Given the description of an element on the screen output the (x, y) to click on. 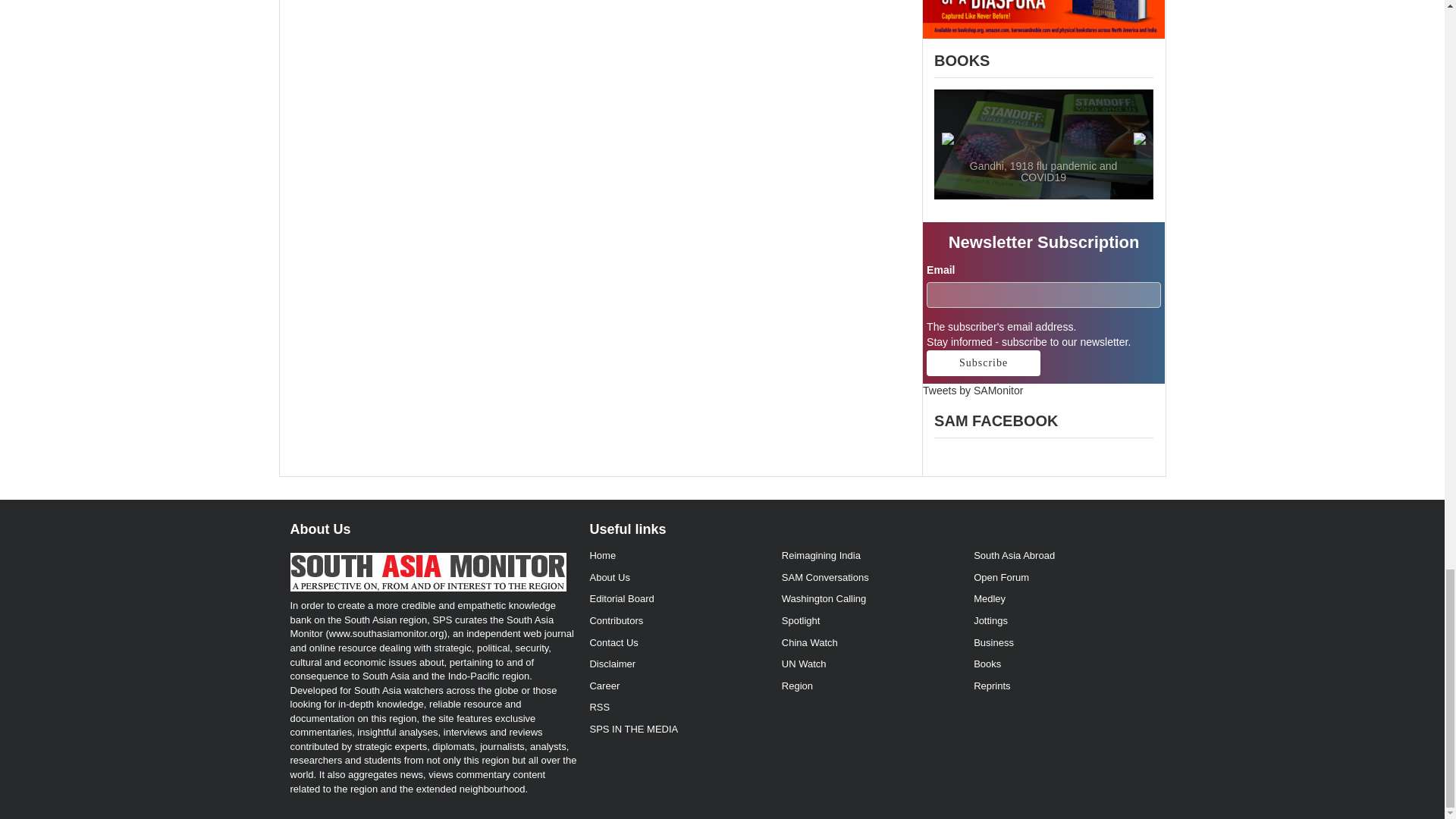
Subscribe (983, 362)
